Given the description of an element on the screen output the (x, y) to click on. 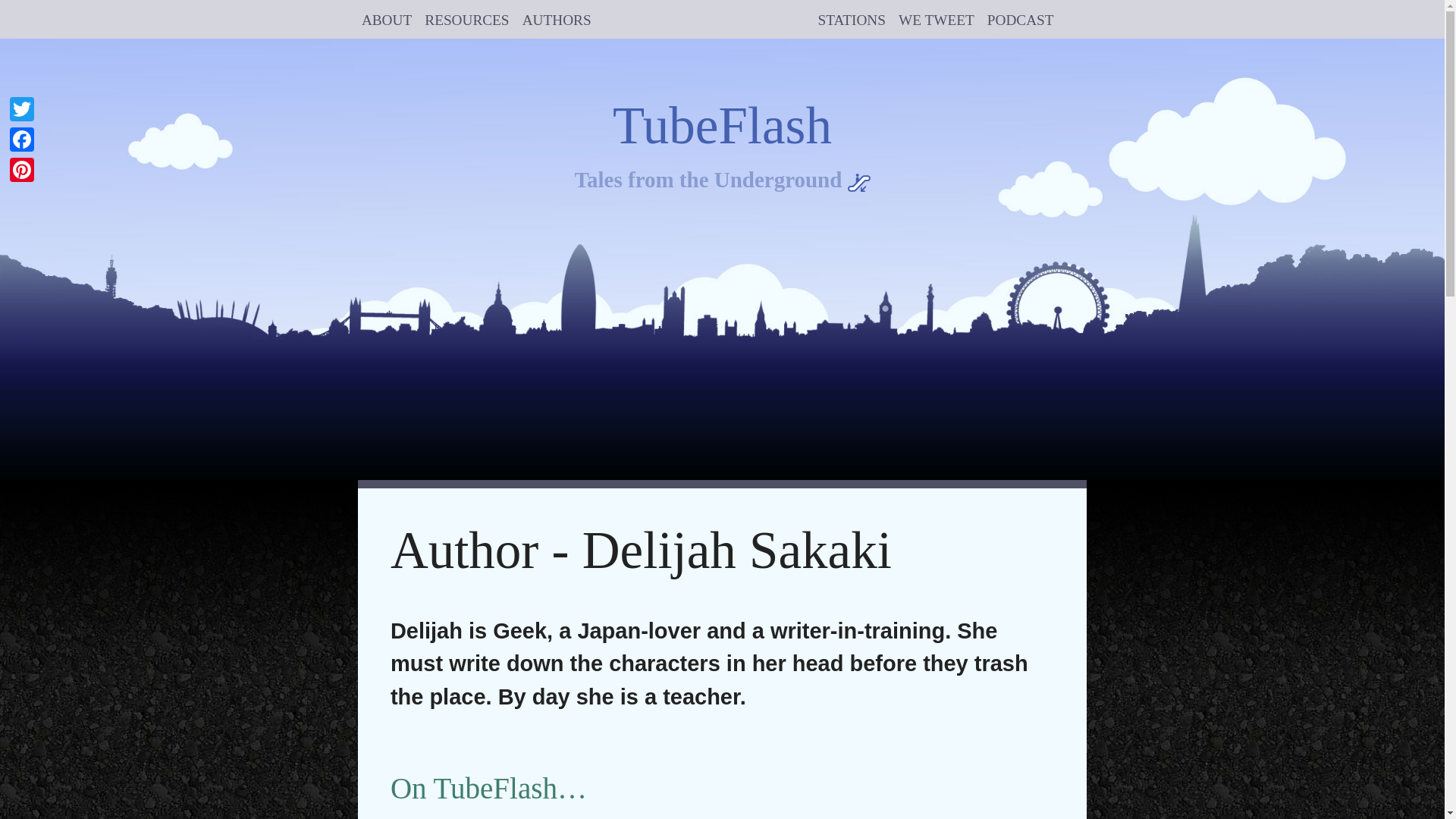
ABOUT (386, 19)
Pinterest (22, 169)
Subscribe on iTunes (1020, 19)
WE TWEET (936, 19)
AUTHORS (556, 19)
STATIONS (851, 19)
Twitter (22, 109)
Facebook (22, 139)
Descend the escalator (858, 181)
PODCAST (1020, 19)
RESOURCES (466, 19)
Go Below (721, 180)
Follow on Twitter (936, 19)
Tales from the Underground (721, 180)
Pinterest (22, 169)
